Given the description of an element on the screen output the (x, y) to click on. 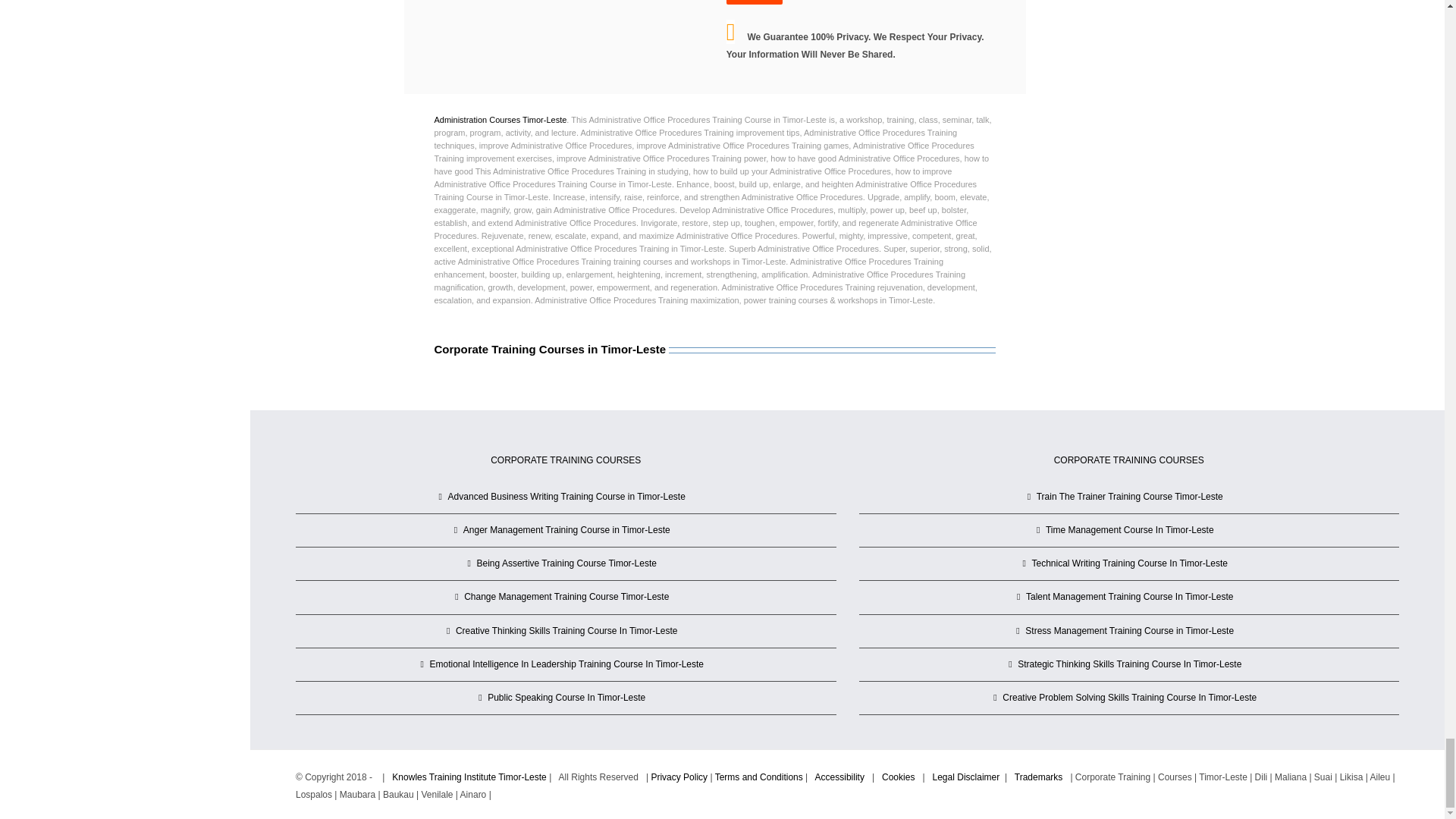
Strategic Thinking Skills Training Course In Timor-Leste (1129, 664)
Technical Writing Training Course In Timor-Leste (1129, 563)
Change Management Training Course Timor-Leste (566, 597)
Corporate Training Courses in Timor-Leste (549, 349)
Creative Thinking Skills Training Course In Timor-Leste (566, 630)
submit (754, 2)
Corporate Training Courses in Timor-Leste (714, 368)
Talent Management Training Course In Timor-Leste (1129, 597)
Anger Management Training Course in Timor-Leste (566, 529)
Advanced Business Writing Training Course in Timor-Leste (566, 497)
Being Assertive Training Course Timor-Leste (566, 563)
Time Management Course In Timor-Leste (1129, 529)
Administration Courses Timor-Leste (499, 119)
